Given the description of an element on the screen output the (x, y) to click on. 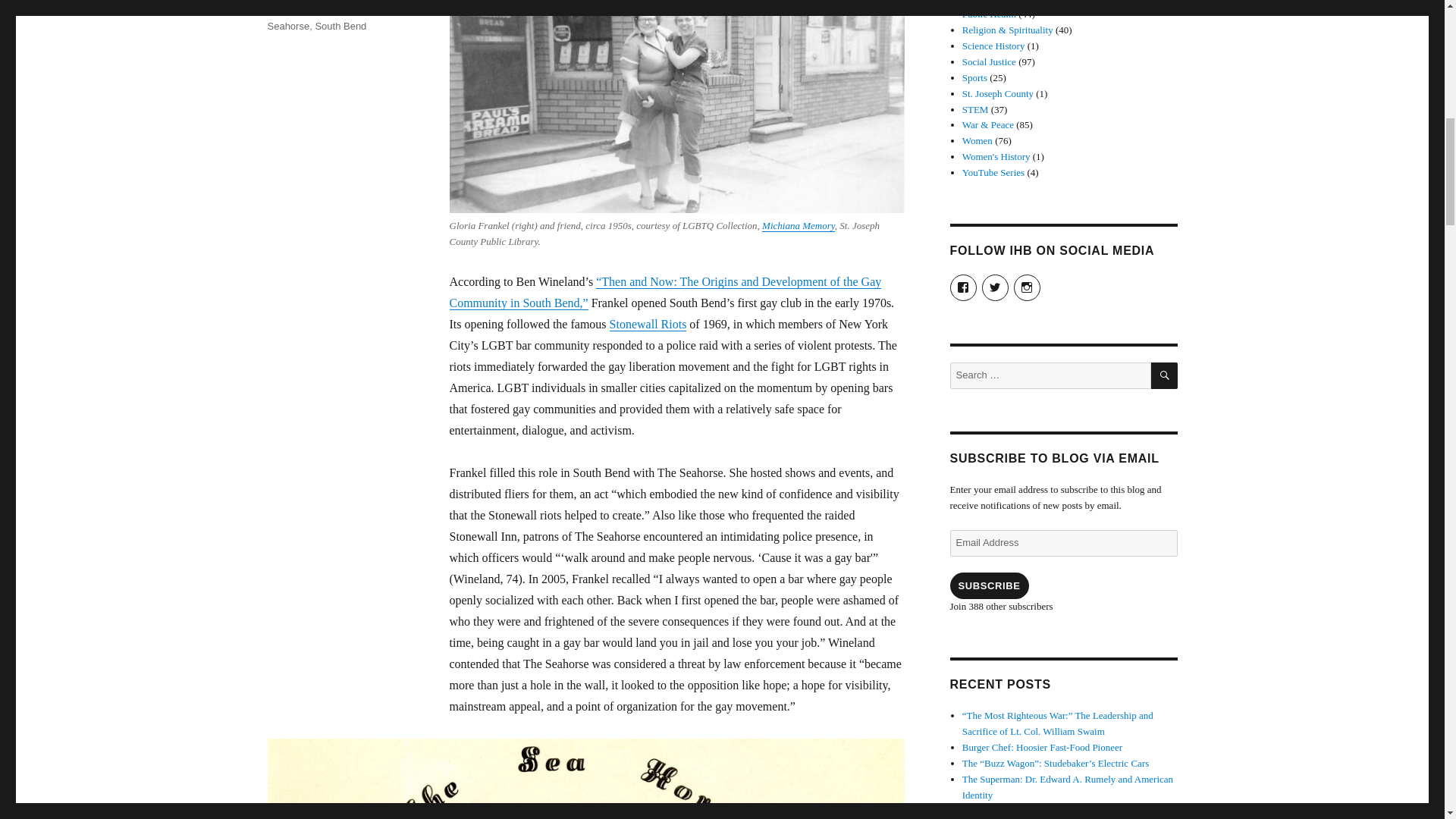
Michiana Memory (797, 225)
Stonewall Riots (648, 323)
